Given the description of an element on the screen output the (x, y) to click on. 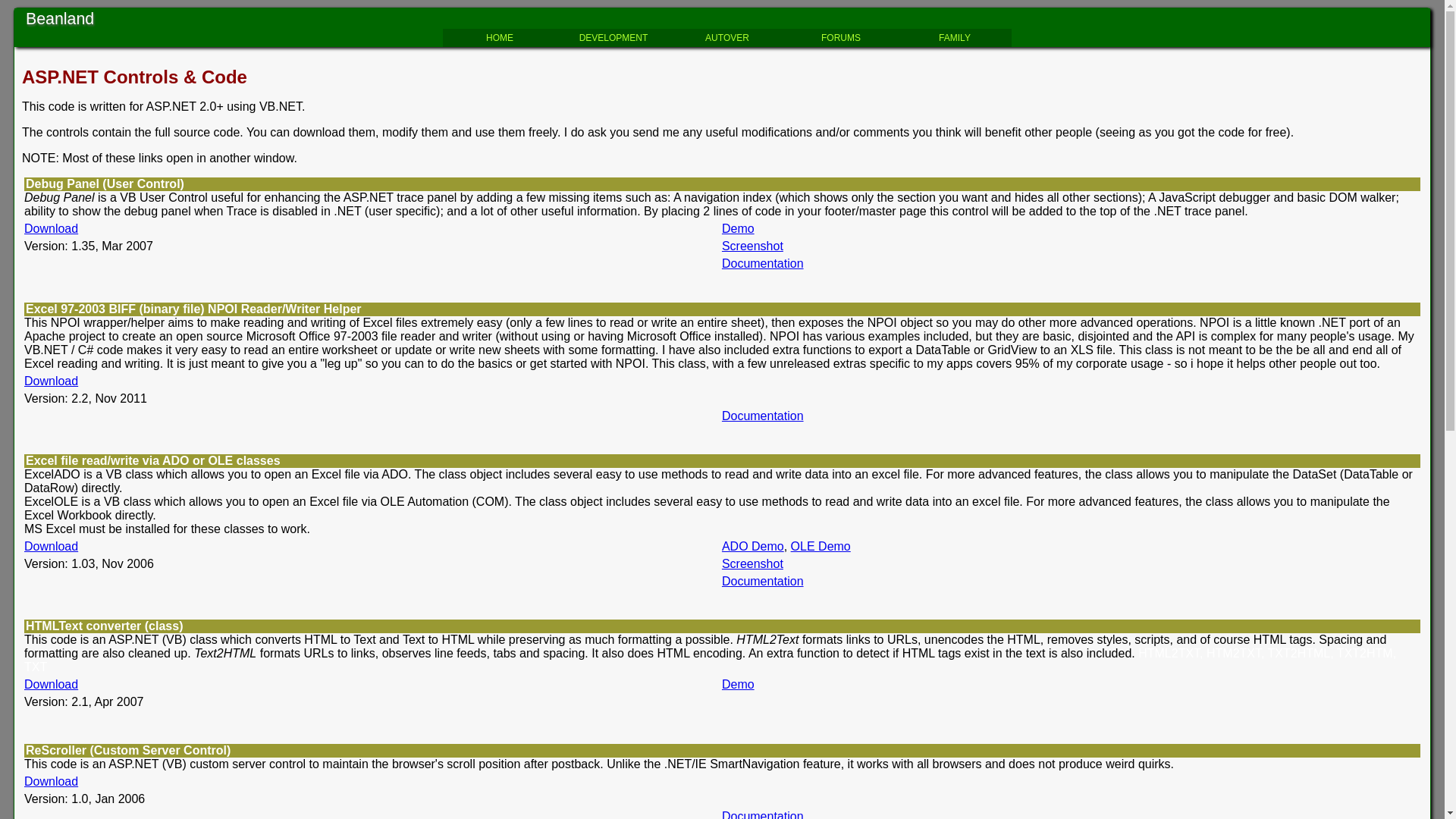
Demo Element type: text (737, 683)
Screenshot Element type: text (752, 563)
Screenshot Element type: text (752, 245)
HOME Element type: text (499, 37)
ADO Demo Element type: text (752, 545)
Download Element type: text (51, 683)
AUTOVER Element type: text (727, 37)
FORUMS Element type: text (840, 37)
Download Element type: text (51, 228)
Download Element type: text (51, 545)
OLE Demo Element type: text (820, 545)
Download Element type: text (51, 380)
Download Element type: text (51, 781)
Documentation Element type: text (762, 263)
DEVELOPMENT Element type: text (613, 37)
FAMILY Element type: text (954, 37)
Documentation Element type: text (762, 415)
Documentation Element type: text (762, 580)
Demo Element type: text (737, 228)
